Given the description of an element on the screen output the (x, y) to click on. 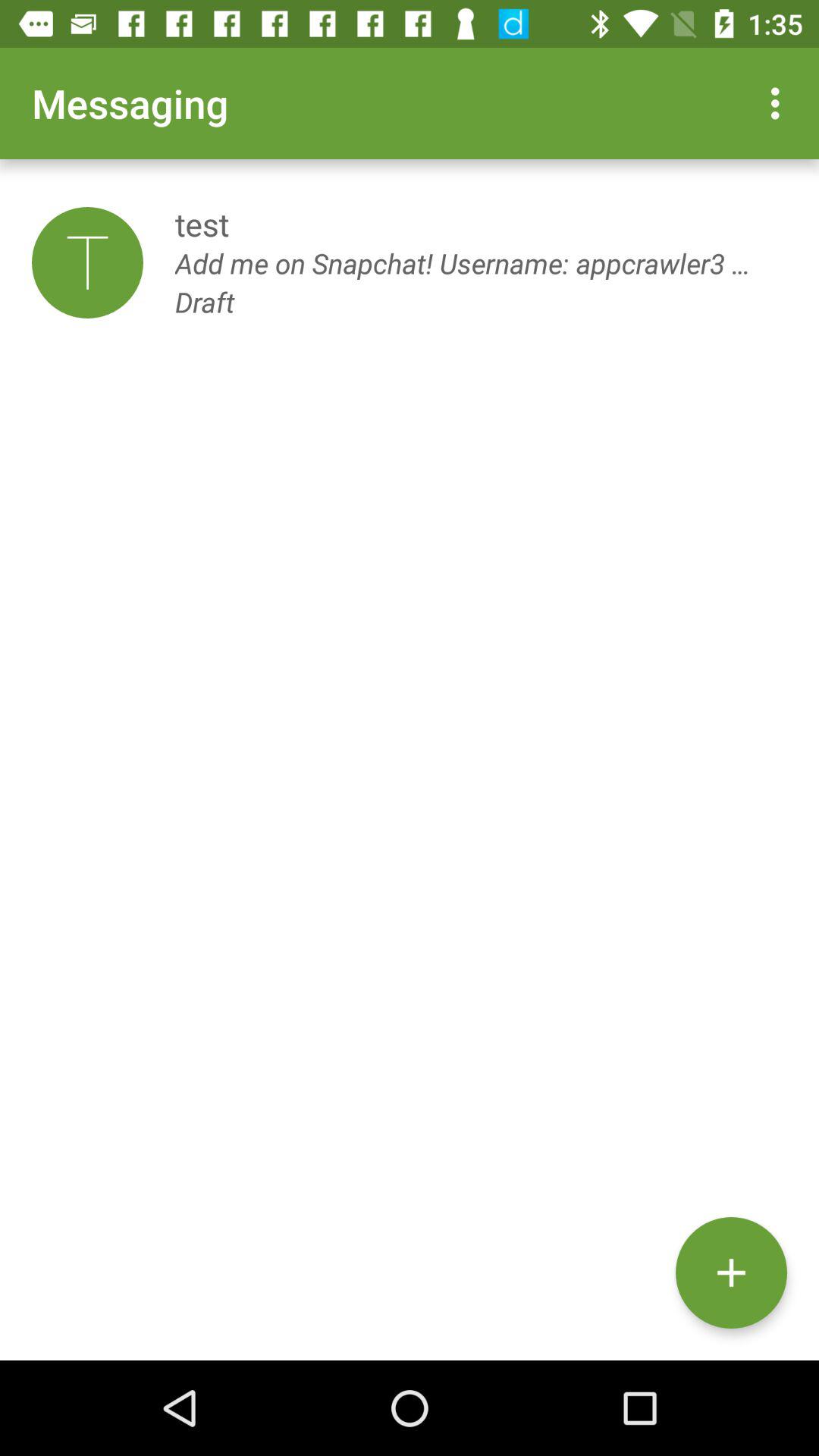
click icon next to the test item (87, 262)
